Given the description of an element on the screen output the (x, y) to click on. 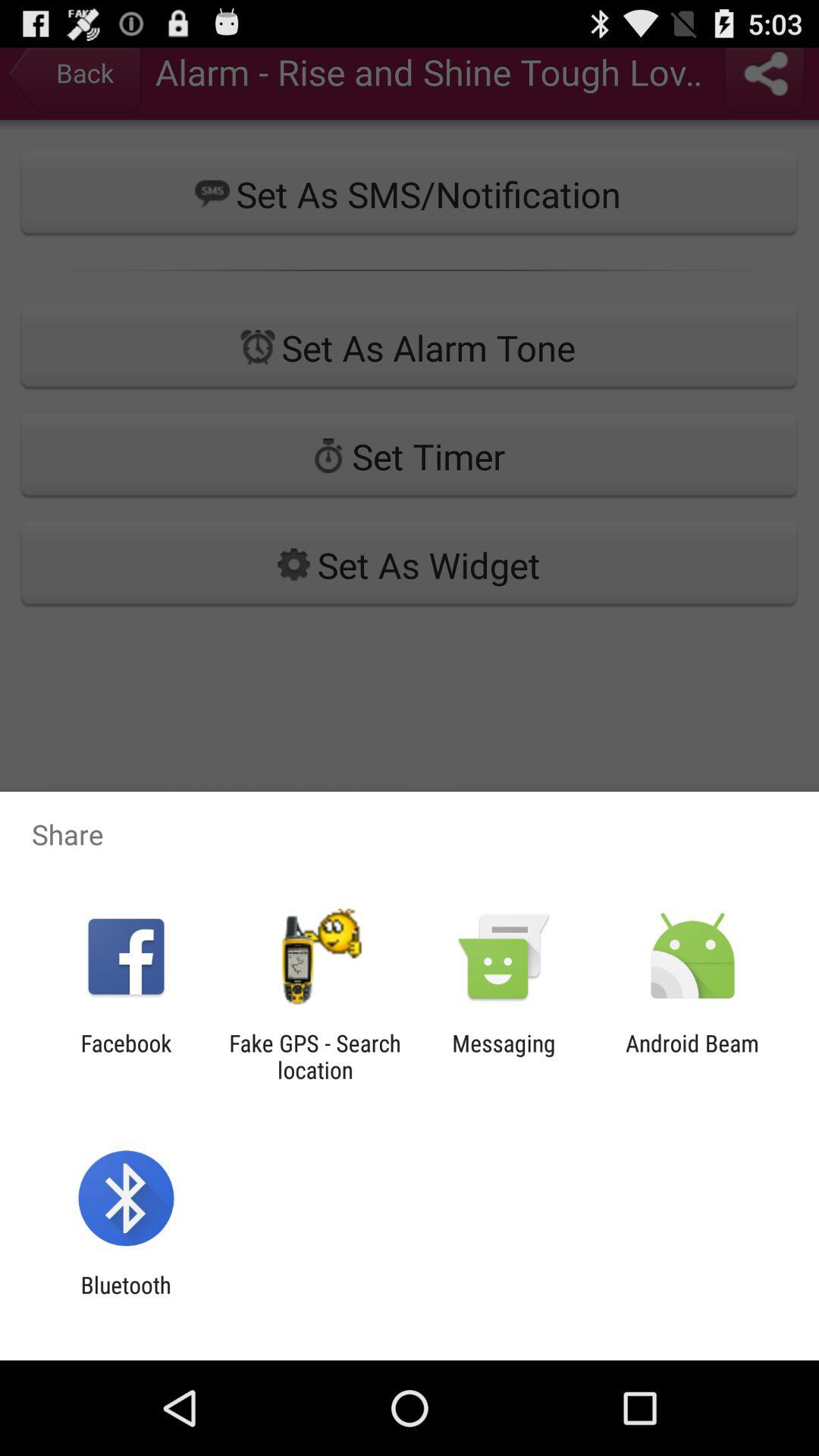
open messaging item (503, 1056)
